Given the description of an element on the screen output the (x, y) to click on. 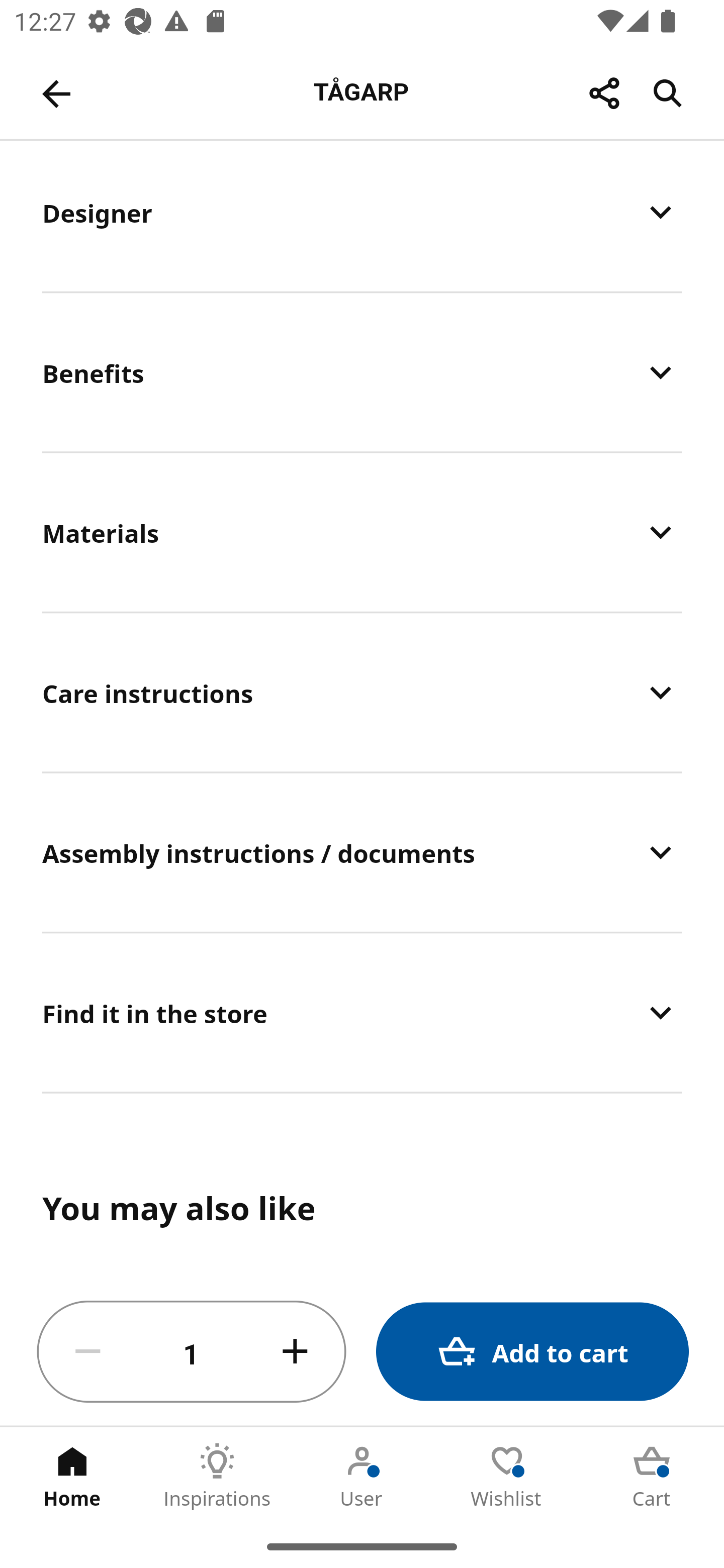
Designer (361, 215)
Benefits (361, 372)
Materials (361, 531)
Care instructions (361, 691)
Assembly instructions / documents (361, 851)
Find it in the store (361, 1011)
Add to cart (531, 1352)
1 (191, 1352)
Home
Tab 1 of 5 (72, 1476)
Inspirations
Tab 2 of 5 (216, 1476)
User
Tab 3 of 5 (361, 1476)
Wishlist
Tab 4 of 5 (506, 1476)
Cart
Tab 5 of 5 (651, 1476)
